Given the description of an element on the screen output the (x, y) to click on. 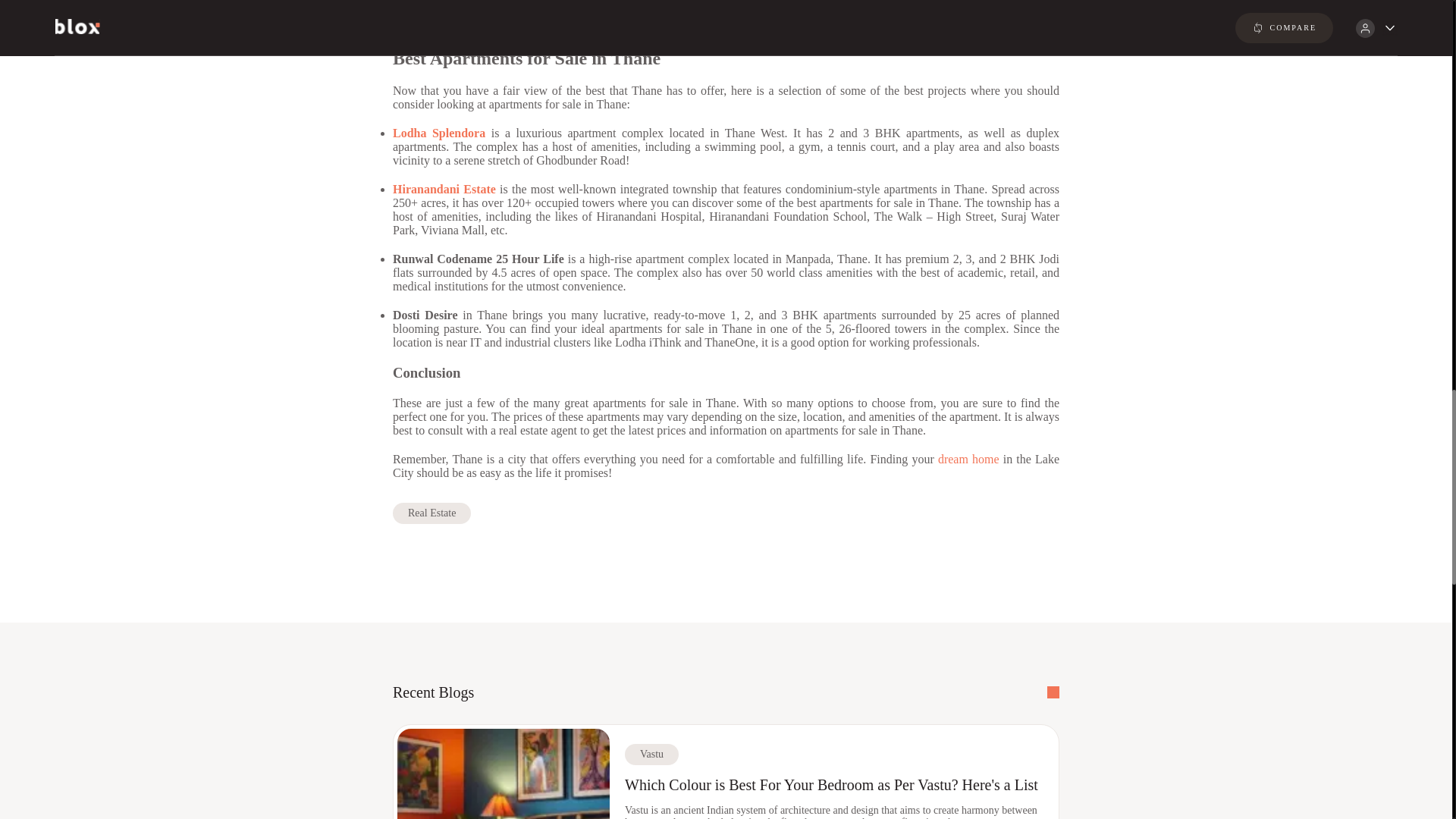
dream home (967, 459)
Hiranandani Estate (444, 188)
Lodha Splendora (438, 132)
